Given the description of an element on the screen output the (x, y) to click on. 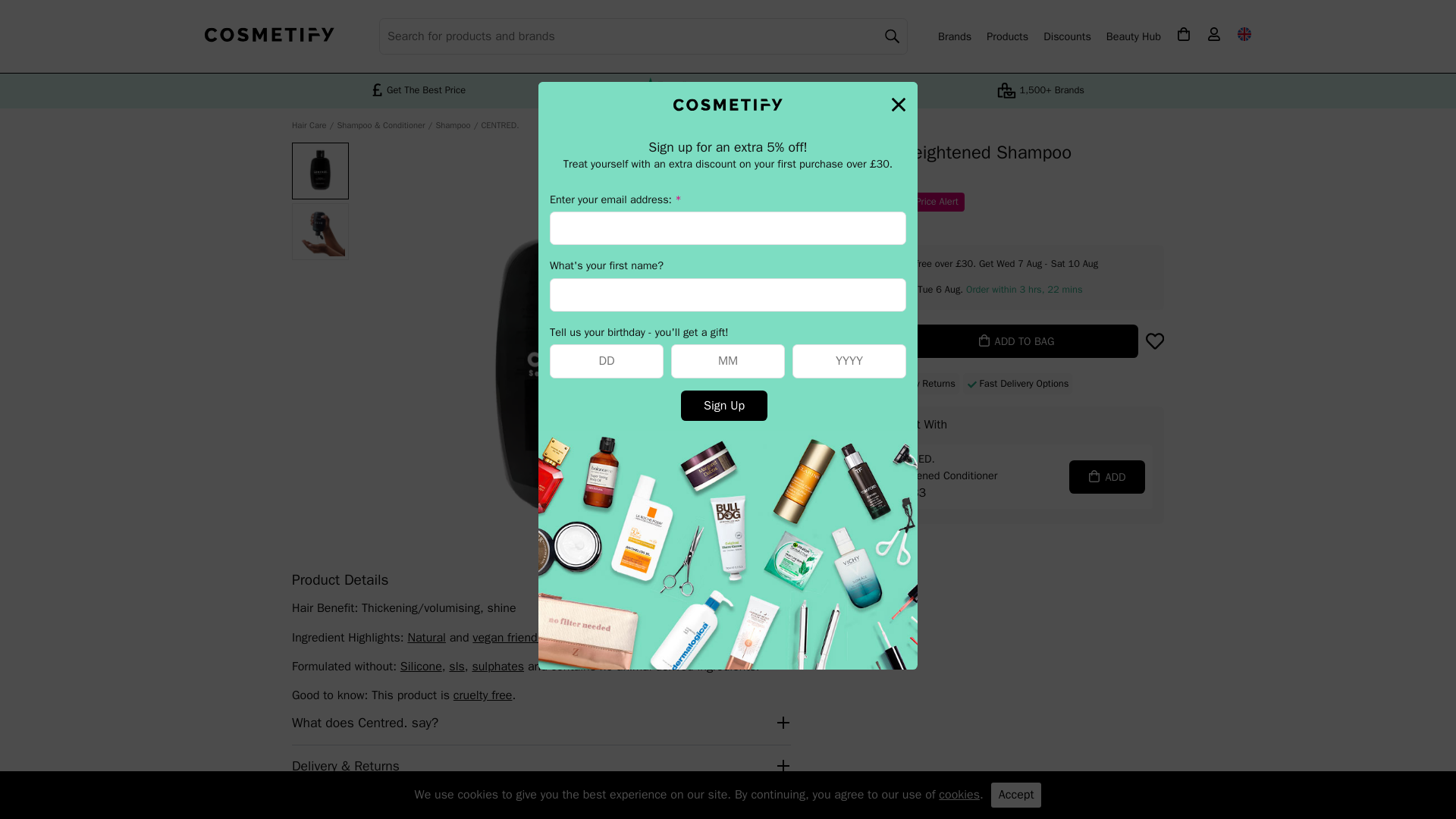
Beauty Hub (1133, 36)
cookies (959, 794)
Brands (954, 36)
Products (1007, 36)
Discounts (1066, 36)
Accept (1016, 794)
